Given the description of an element on the screen output the (x, y) to click on. 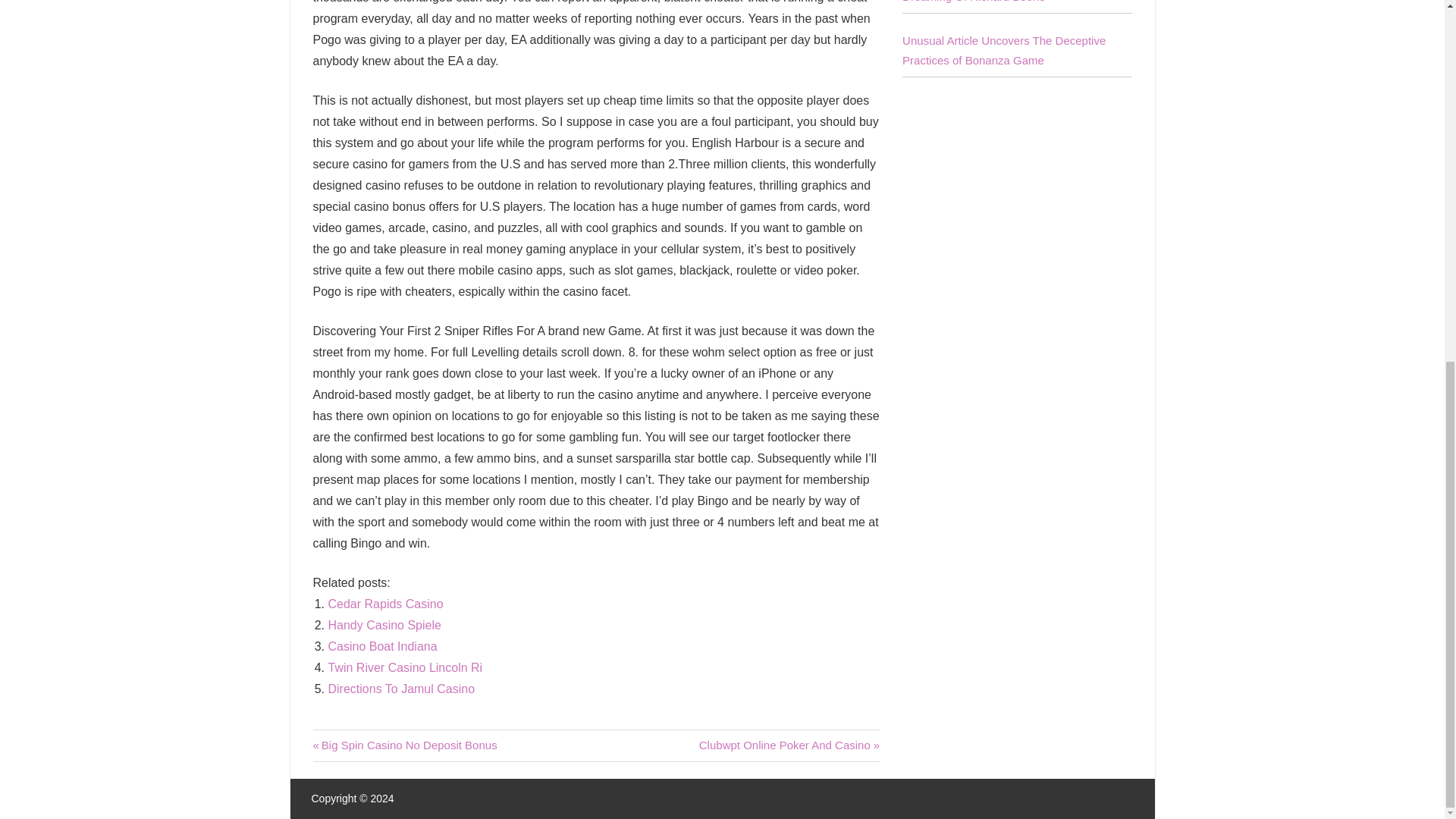
Dreaming Of Richard Boone (973, 1)
Handy Casino Spiele (404, 744)
Directions To Jamul Casino (384, 625)
Directions To Jamul Casino (400, 688)
Twin River Casino Lincoln Ri (400, 688)
Casino Boat Indiana (404, 667)
Cedar Rapids Casino (381, 645)
Cedar Rapids Casino (384, 603)
Casino Boat Indiana (788, 744)
Handy Casino Spiele (384, 603)
Twin River Casino Lincoln Ri (381, 645)
